Given the description of an element on the screen output the (x, y) to click on. 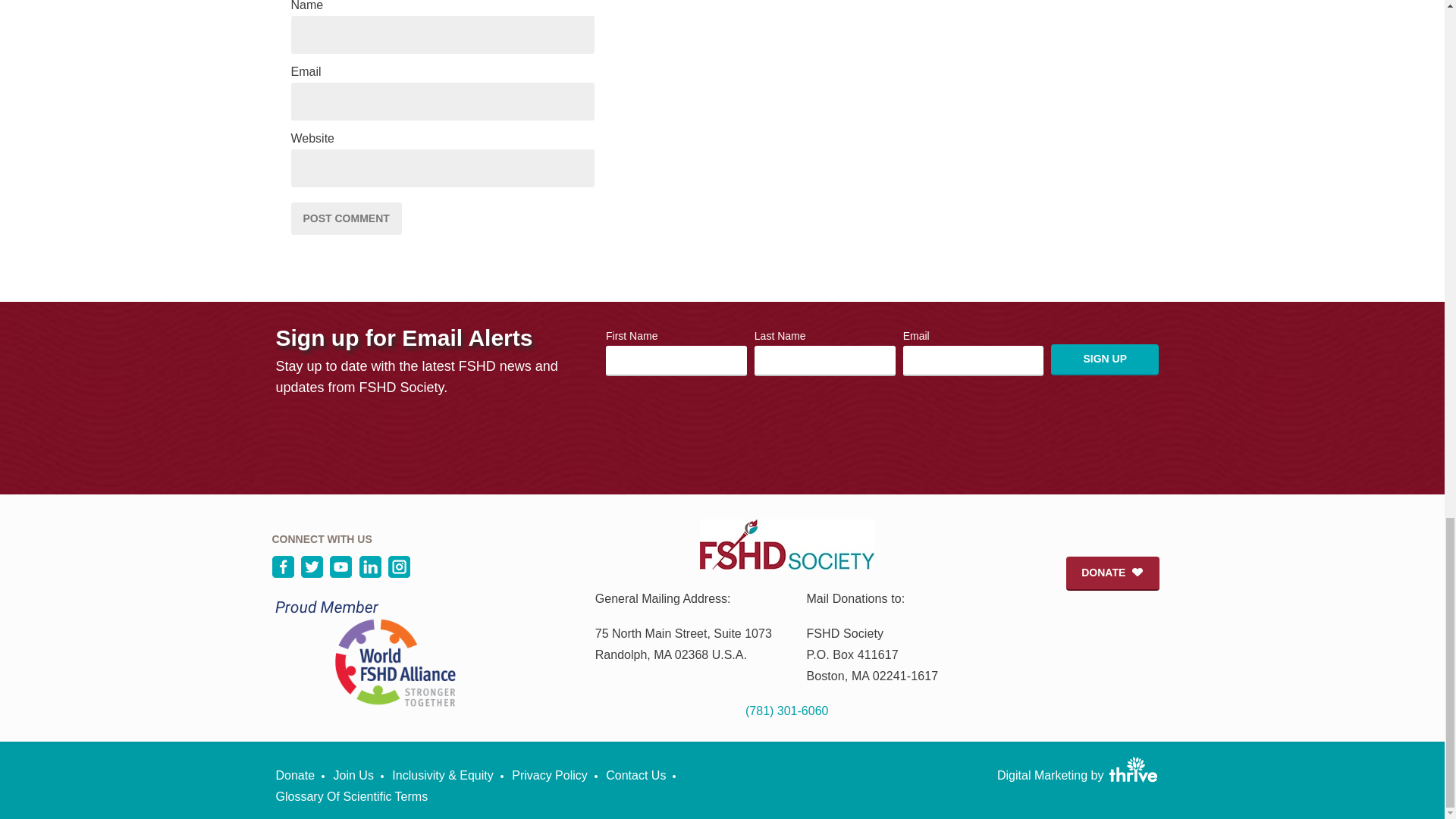
Post Comment (346, 218)
